Given the description of an element on the screen output the (x, y) to click on. 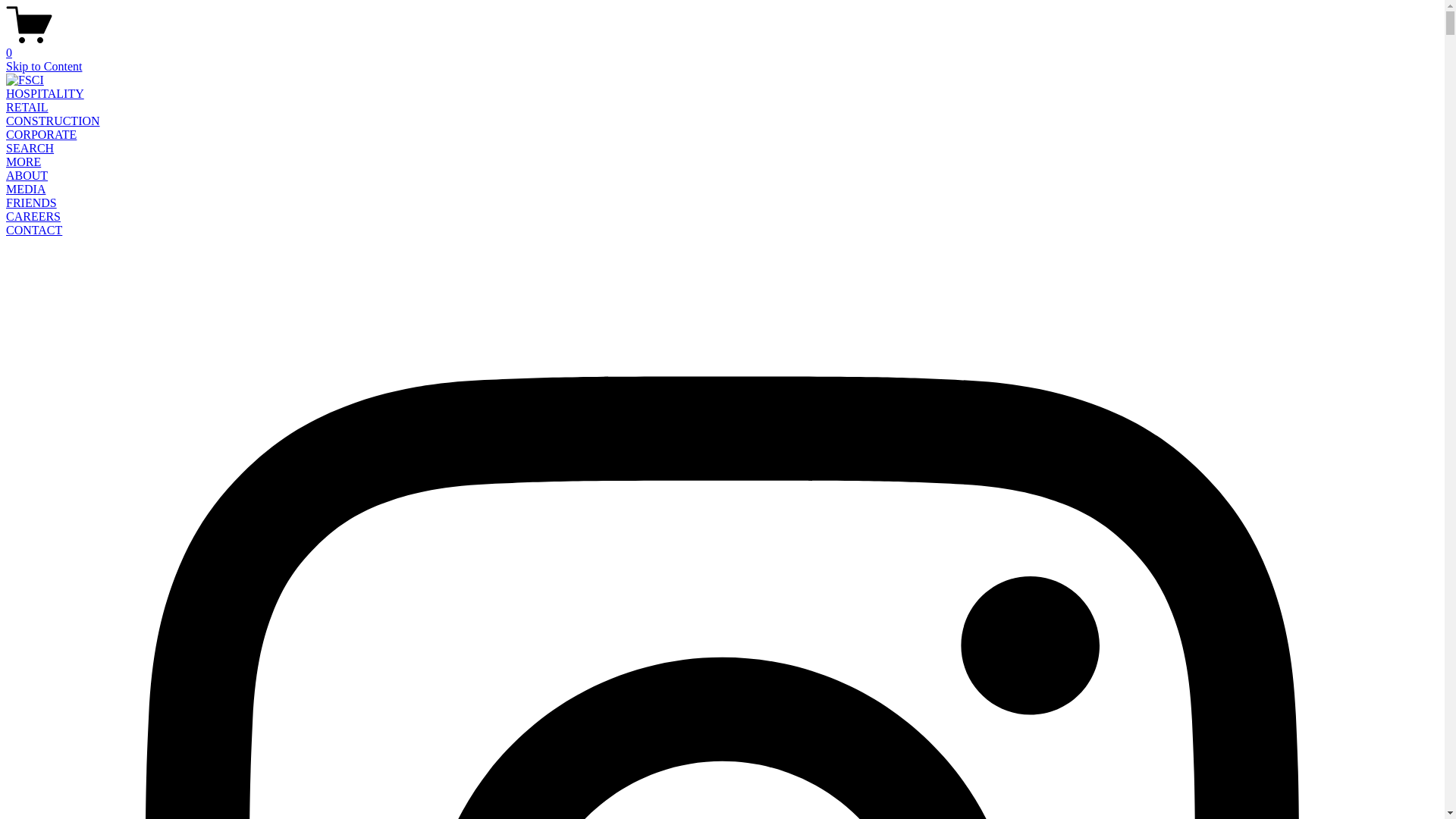
FRIENDS Element type: text (31, 202)
Skip to Content Element type: text (43, 65)
CONTACT Element type: text (34, 229)
RETAIL Element type: text (27, 106)
CORPORATE Element type: text (41, 134)
CONSTRUCTION Element type: text (53, 120)
HOSPITALITY Element type: text (45, 93)
ABOUT Element type: text (26, 175)
0 Element type: text (722, 45)
MEDIA Element type: text (25, 188)
SEARCH Element type: text (29, 147)
MORE Element type: text (23, 161)
CAREERS Element type: text (33, 216)
